Given the description of an element on the screen output the (x, y) to click on. 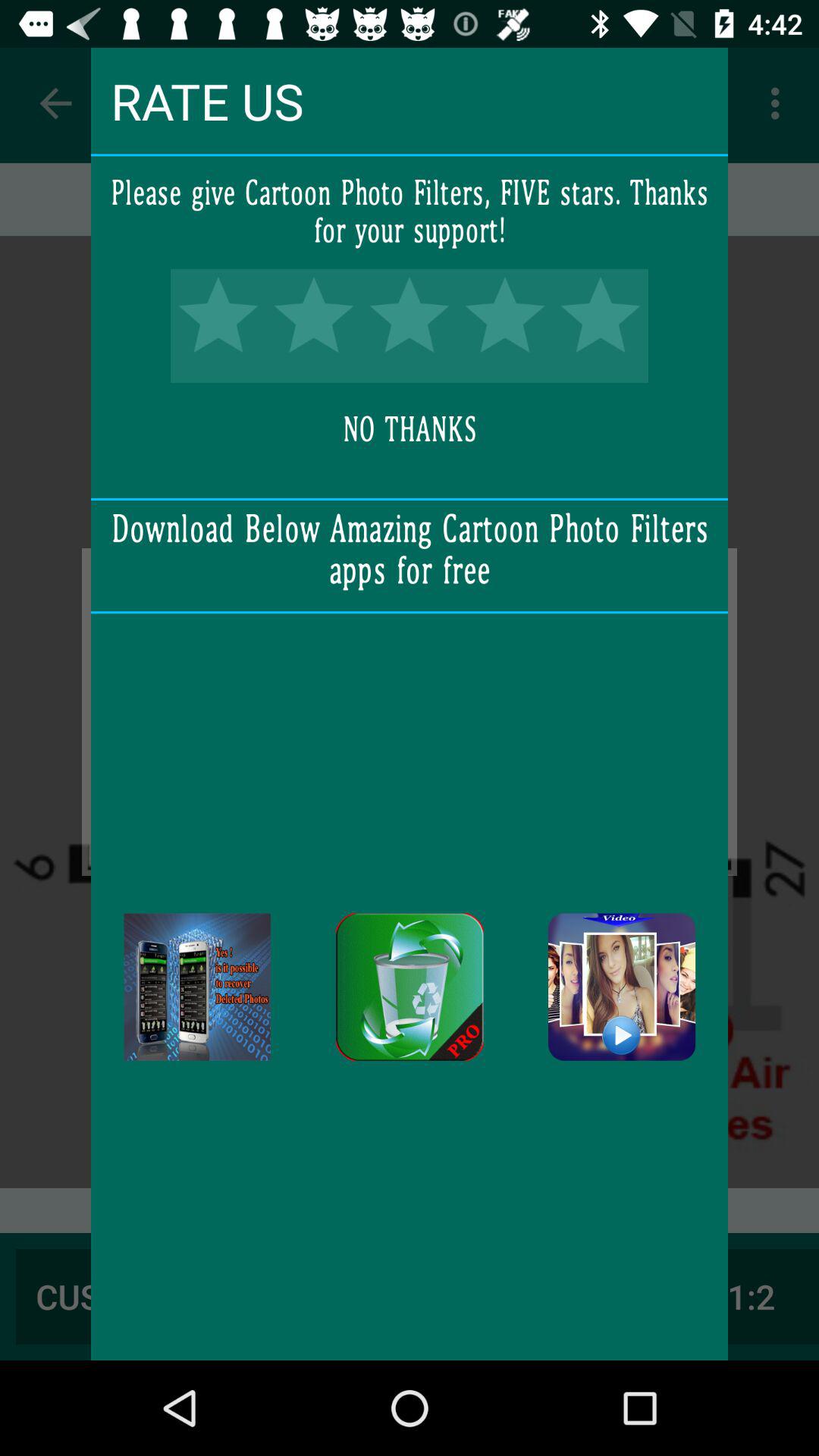
download (621, 986)
